Given the description of an element on the screen output the (x, y) to click on. 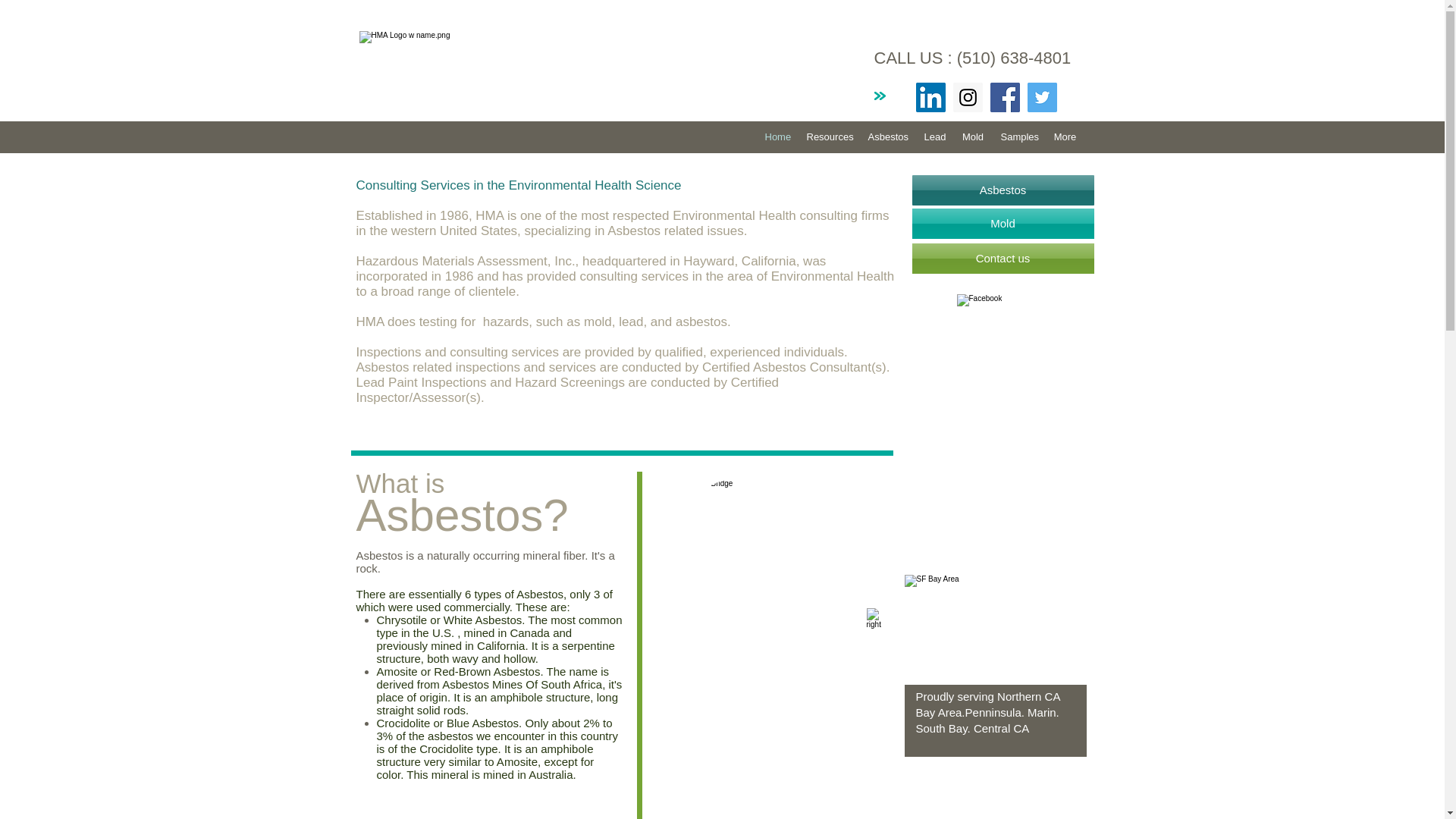
Samples (1018, 136)
Resources (828, 136)
Home (777, 136)
Lead (934, 136)
Contact us (1002, 258)
San Francisco-Oakland Bay Bridge  (735, 529)
Mold (1002, 223)
Asbestos (1002, 190)
Mold (972, 136)
